Given the description of an element on the screen output the (x, y) to click on. 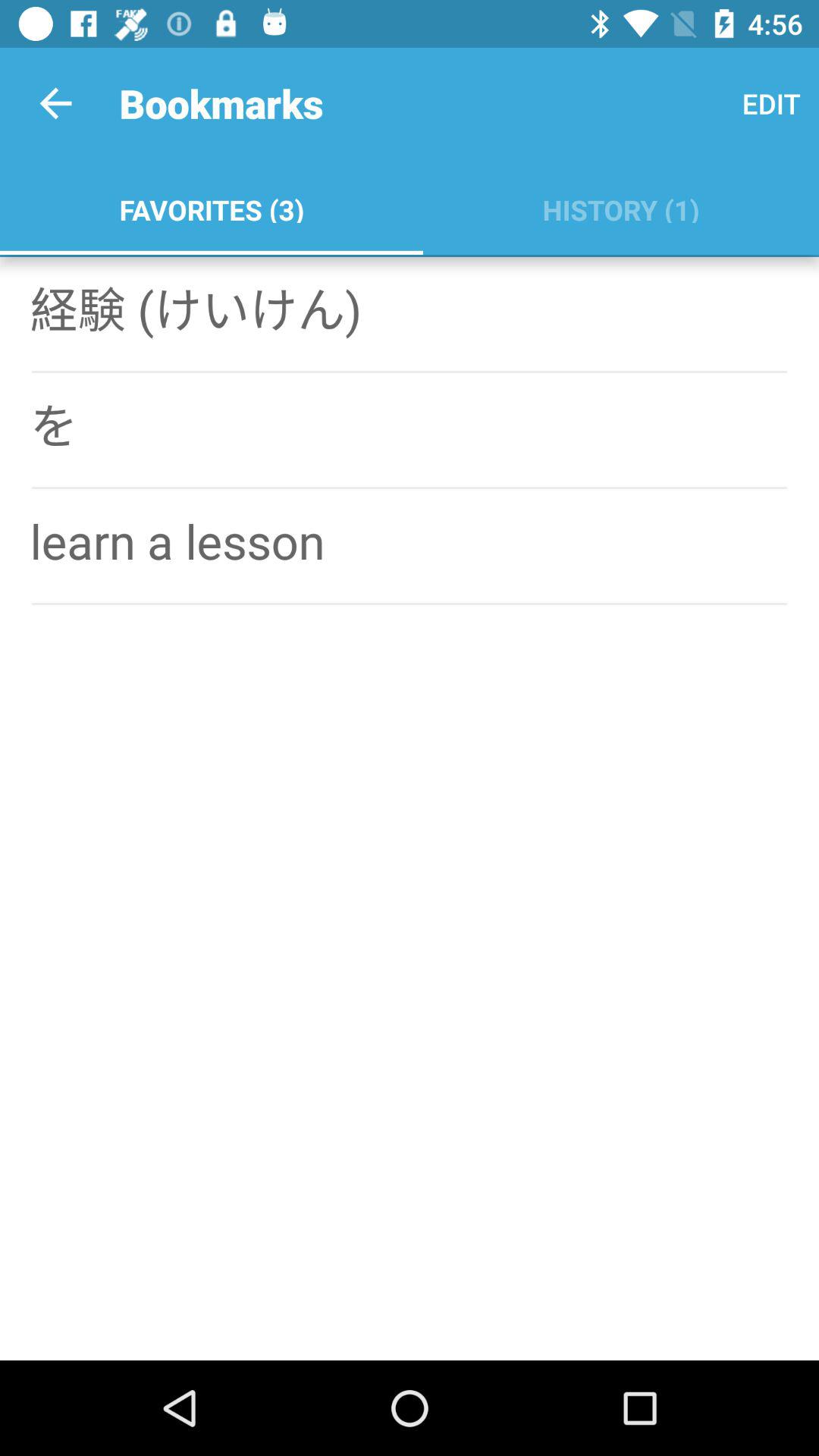
press item above favorites (3) app (55, 103)
